Given the description of an element on the screen output the (x, y) to click on. 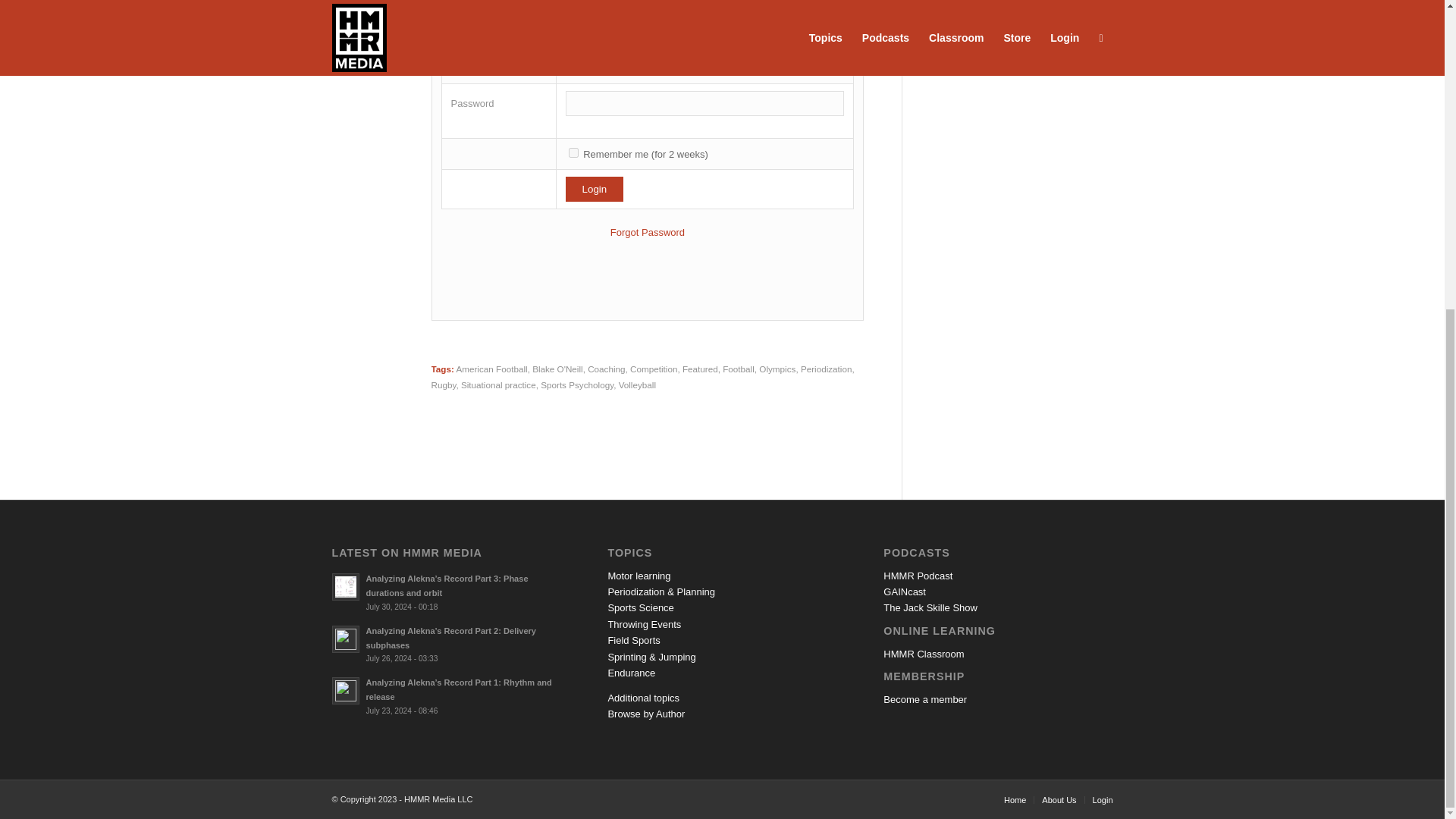
Forgot Password (647, 232)
Login (595, 188)
Login (595, 188)
rememberMe (573, 153)
